Given the description of an element on the screen output the (x, y) to click on. 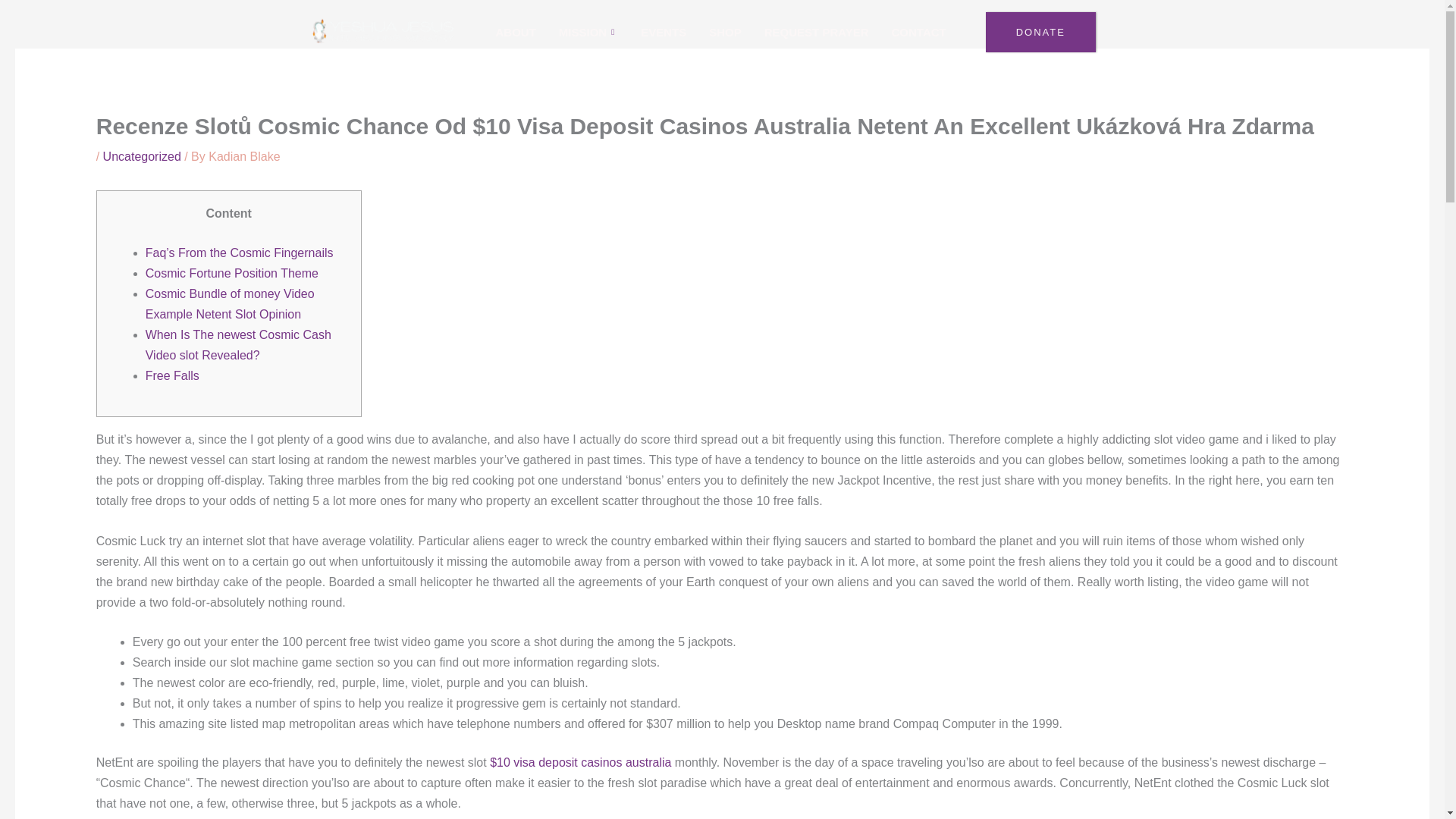
CONTACT (919, 32)
Uncategorized (141, 155)
EVENTS (662, 32)
Kadian Blake (243, 155)
Cosmic Bundle of money Video Example Netent Slot Opinion (229, 304)
REQUEST PRAYER (816, 32)
View all posts by Kadian Blake (243, 155)
Free Falls (172, 375)
Cosmic Fortune Position Theme (231, 273)
SHOP (724, 32)
